Given the description of an element on the screen output the (x, y) to click on. 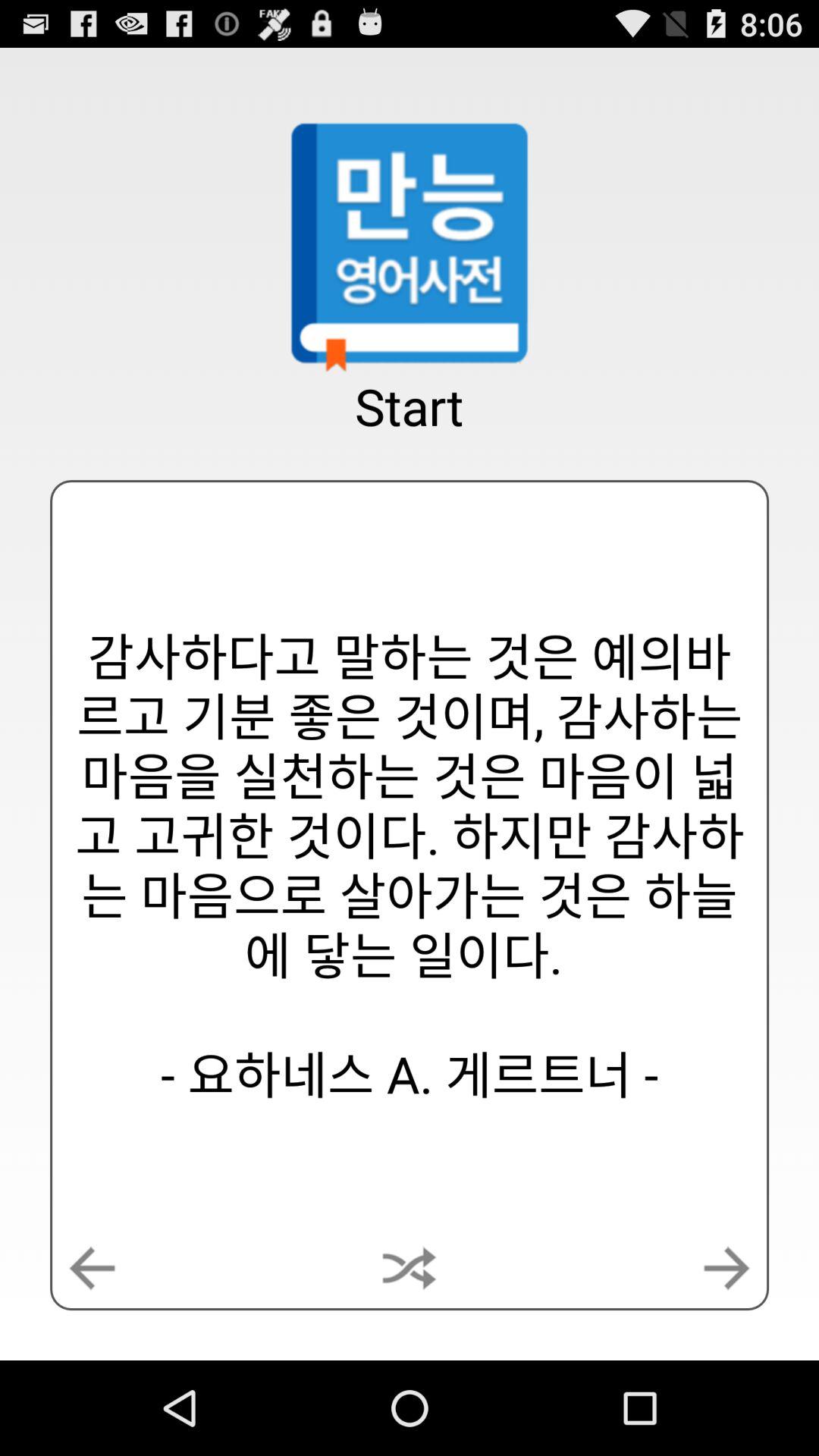
press icon below the start app (409, 1268)
